Given the description of an element on the screen output the (x, y) to click on. 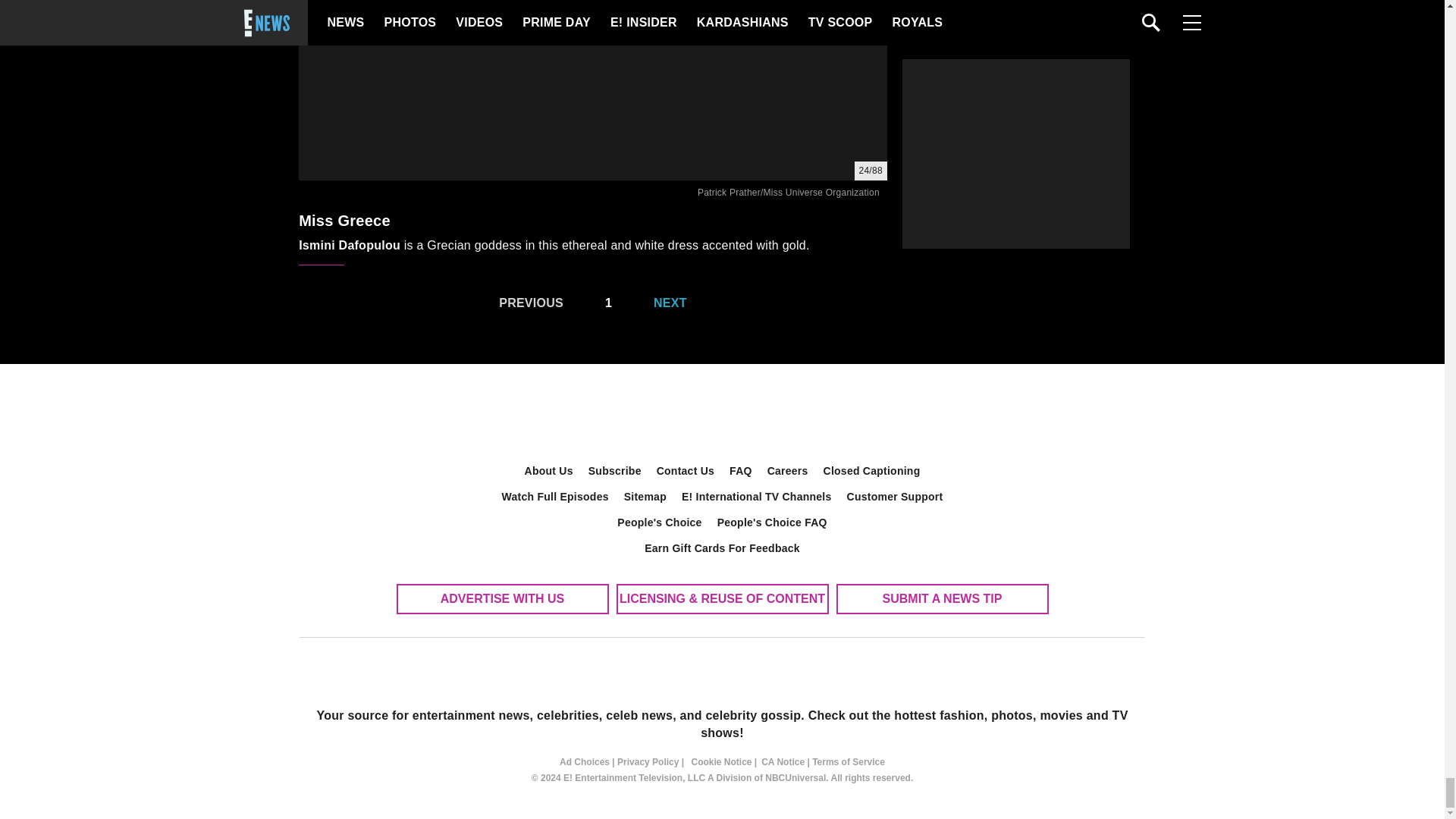
Next Page (677, 303)
